Given the description of an element on the screen output the (x, y) to click on. 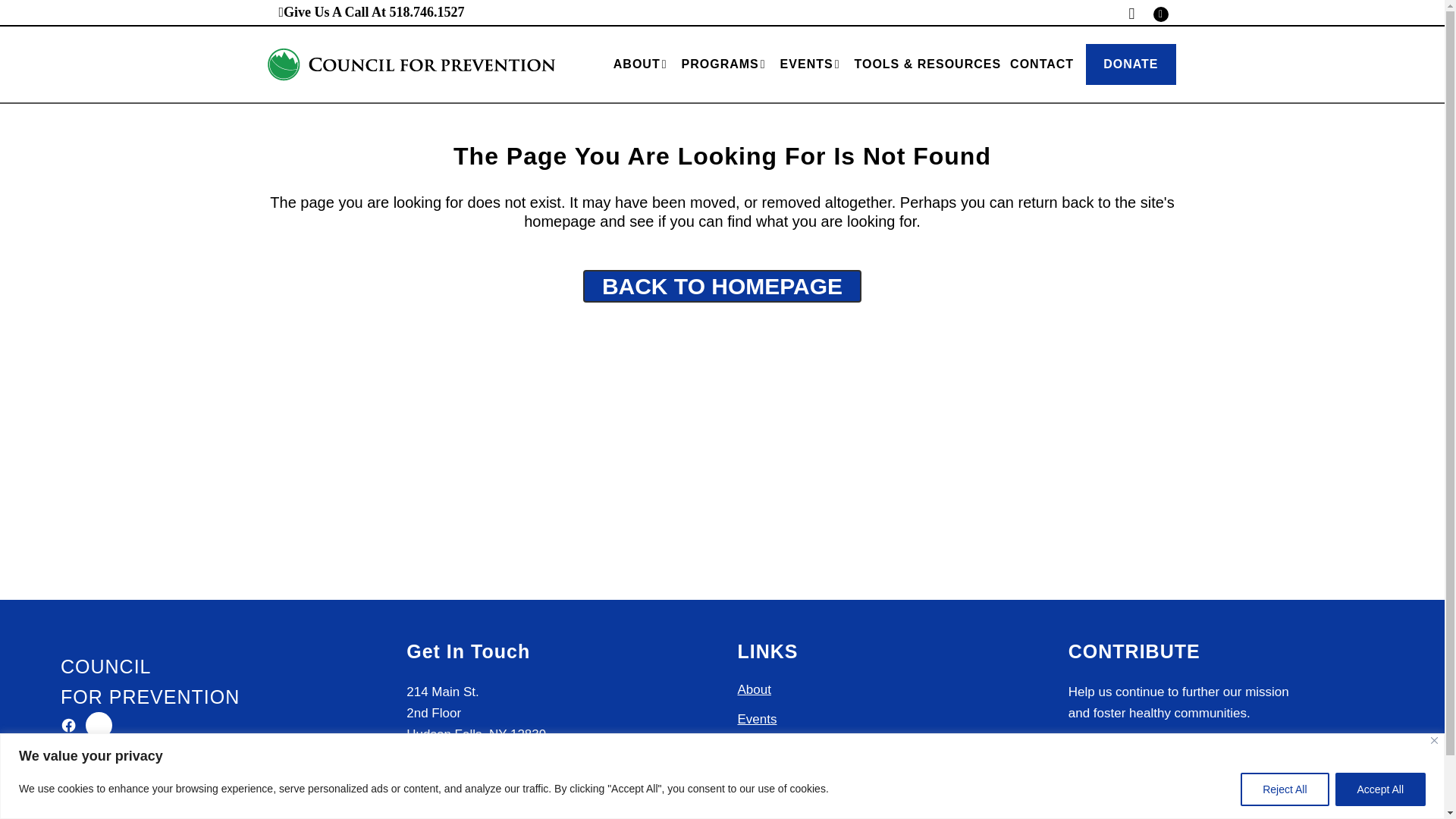
ABOUT (642, 64)
EVENTS (813, 64)
Reject All (1283, 788)
DONATE (1130, 64)
CONTACT (1042, 64)
PROGRAMS (726, 64)
Accept All (1380, 788)
